Given the description of an element on the screen output the (x, y) to click on. 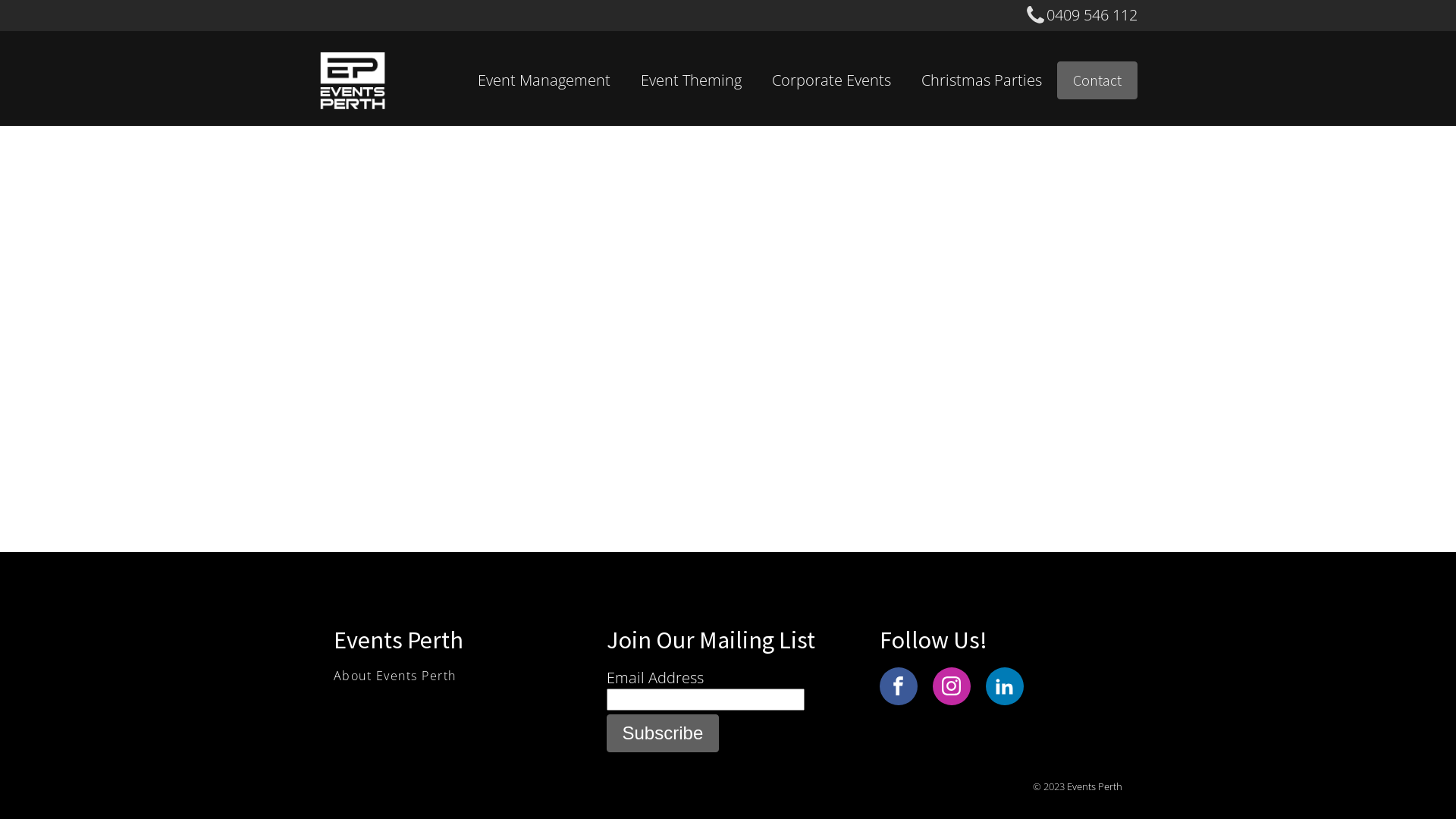
Contact Element type: text (1097, 80)
Christmas Parties Element type: text (981, 80)
Events Perth Element type: text (1094, 786)
Corporate Events Element type: text (831, 80)
Event Theming Element type: text (690, 80)
About Events Perth Element type: text (394, 675)
Subscribe Element type: text (662, 733)
Event Management Element type: text (543, 80)
